Given the description of an element on the screen output the (x, y) to click on. 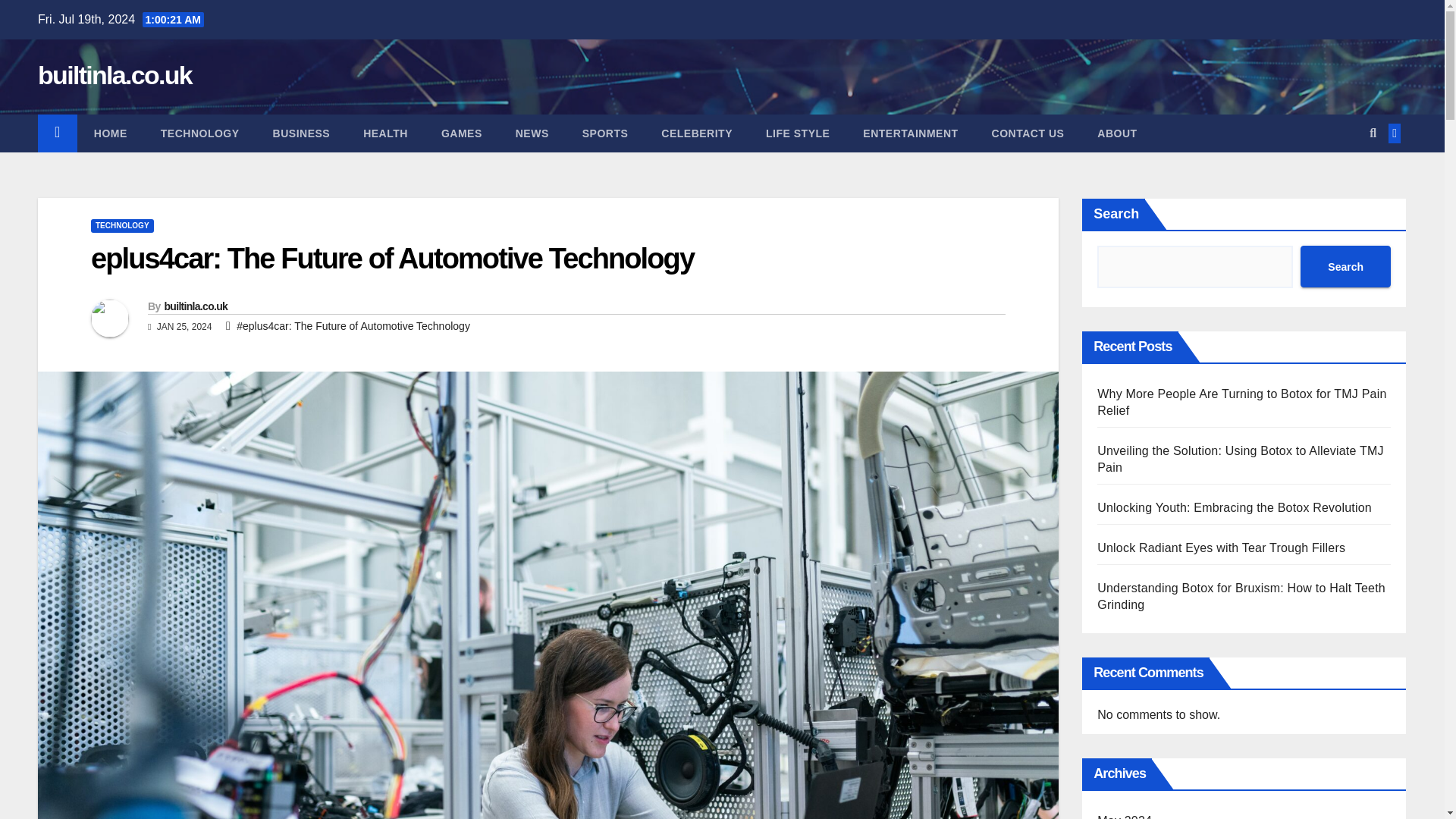
celeberity (697, 133)
builtinla.co.uk (114, 74)
ENTERTAINMENT (909, 133)
SPORTS (605, 133)
Sports (605, 133)
CONTACT US (1028, 133)
Entertainment (909, 133)
Life Style (797, 133)
eplus4car: The Future of Automotive Technology (392, 258)
Technology (200, 133)
BUSINESS (301, 133)
Games (462, 133)
About (1116, 133)
CELEBERITY (697, 133)
CONTACT US (1028, 133)
